Given the description of an element on the screen output the (x, y) to click on. 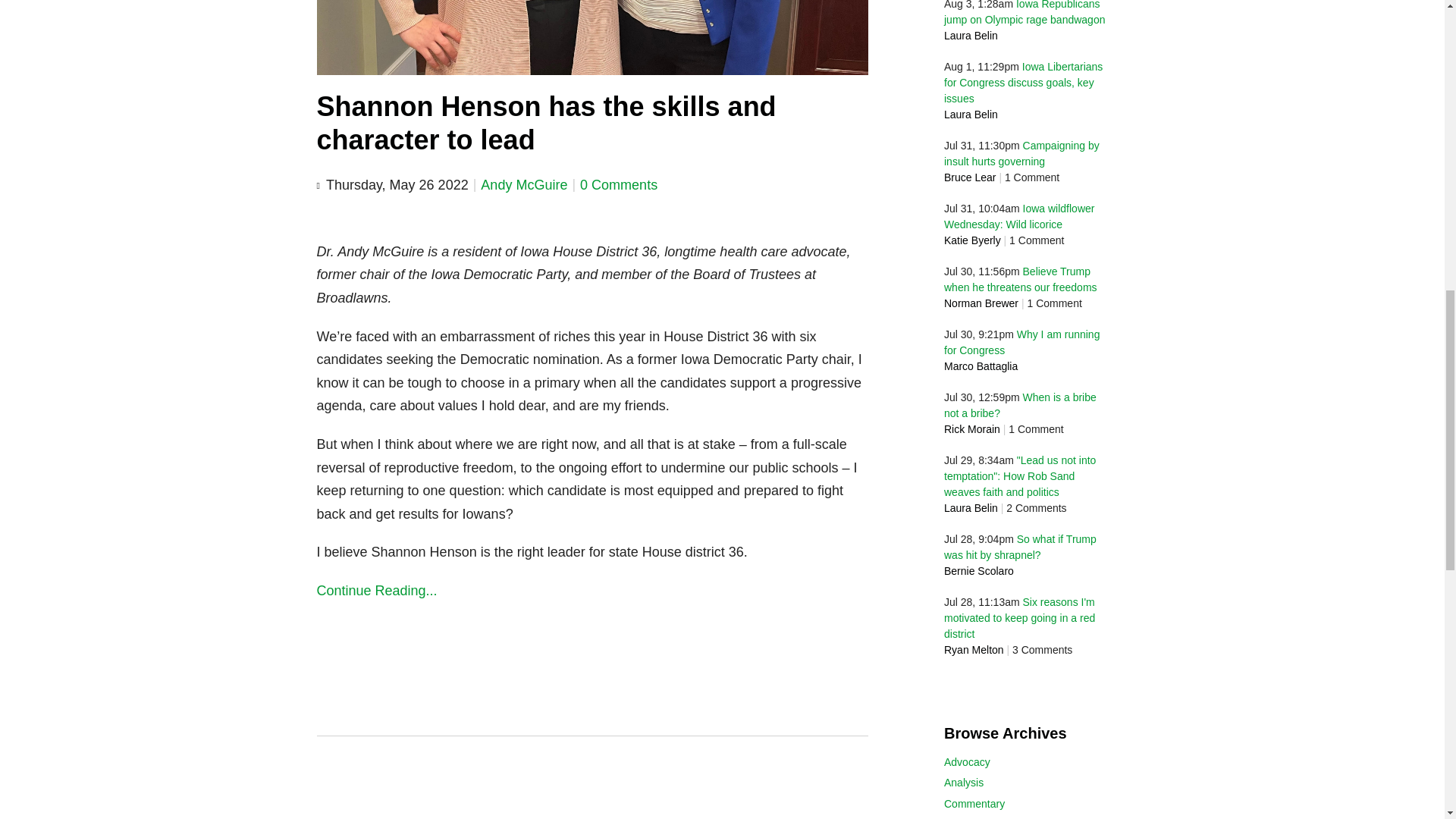
When is a bribe not a bribe? (1019, 405)
Continue Reading... (593, 590)
0 Comments (618, 184)
Iowa Libertarians for Congress discuss goals, key issues (1022, 82)
Katie Byerly (972, 240)
Laura Belin (970, 508)
comments (618, 184)
Marco Battaglia (980, 366)
Laura Belin (970, 114)
